Given the description of an element on the screen output the (x, y) to click on. 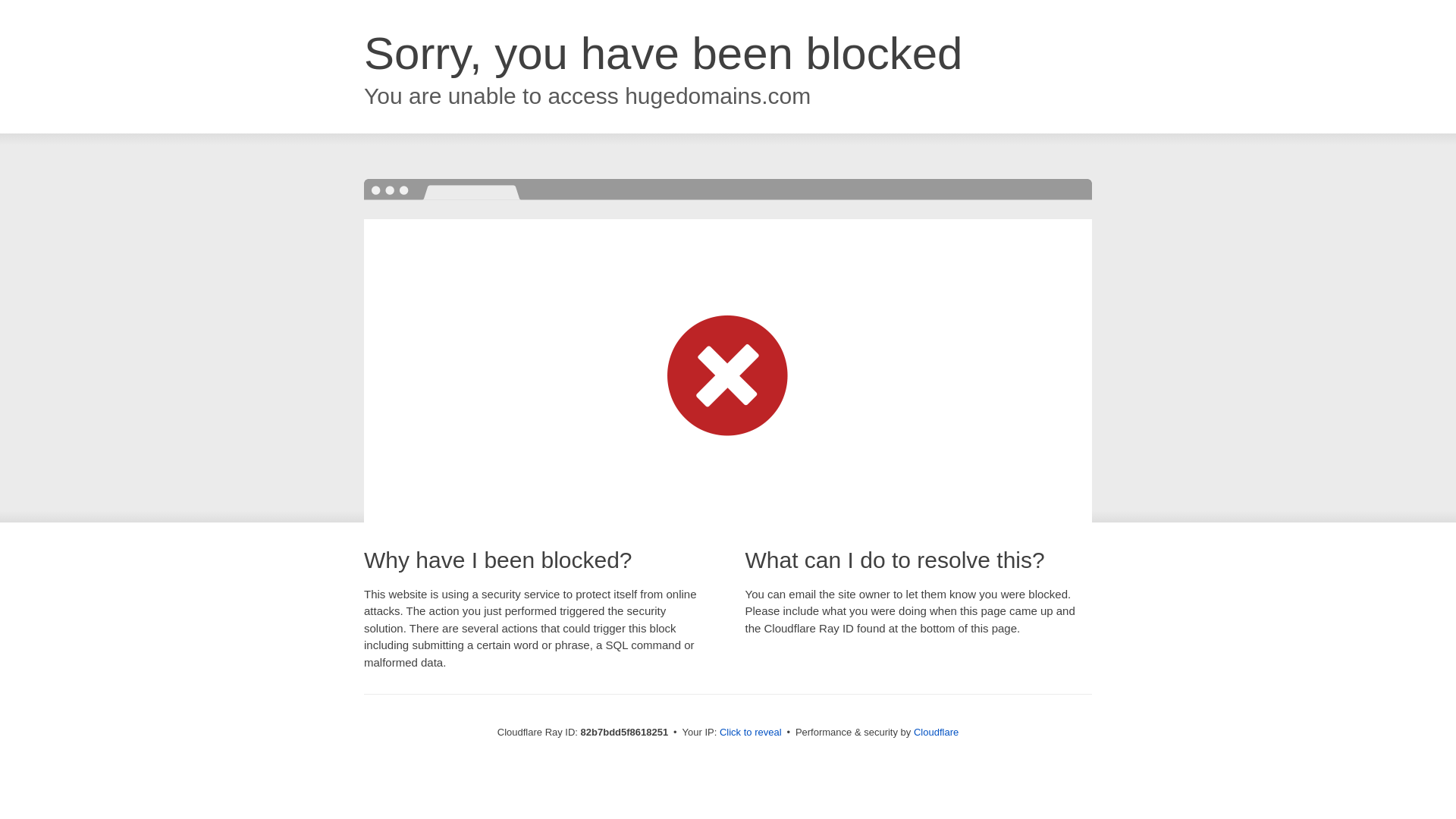
Click to reveal Element type: text (750, 732)
Cloudflare Element type: text (935, 731)
